Given the description of an element on the screen output the (x, y) to click on. 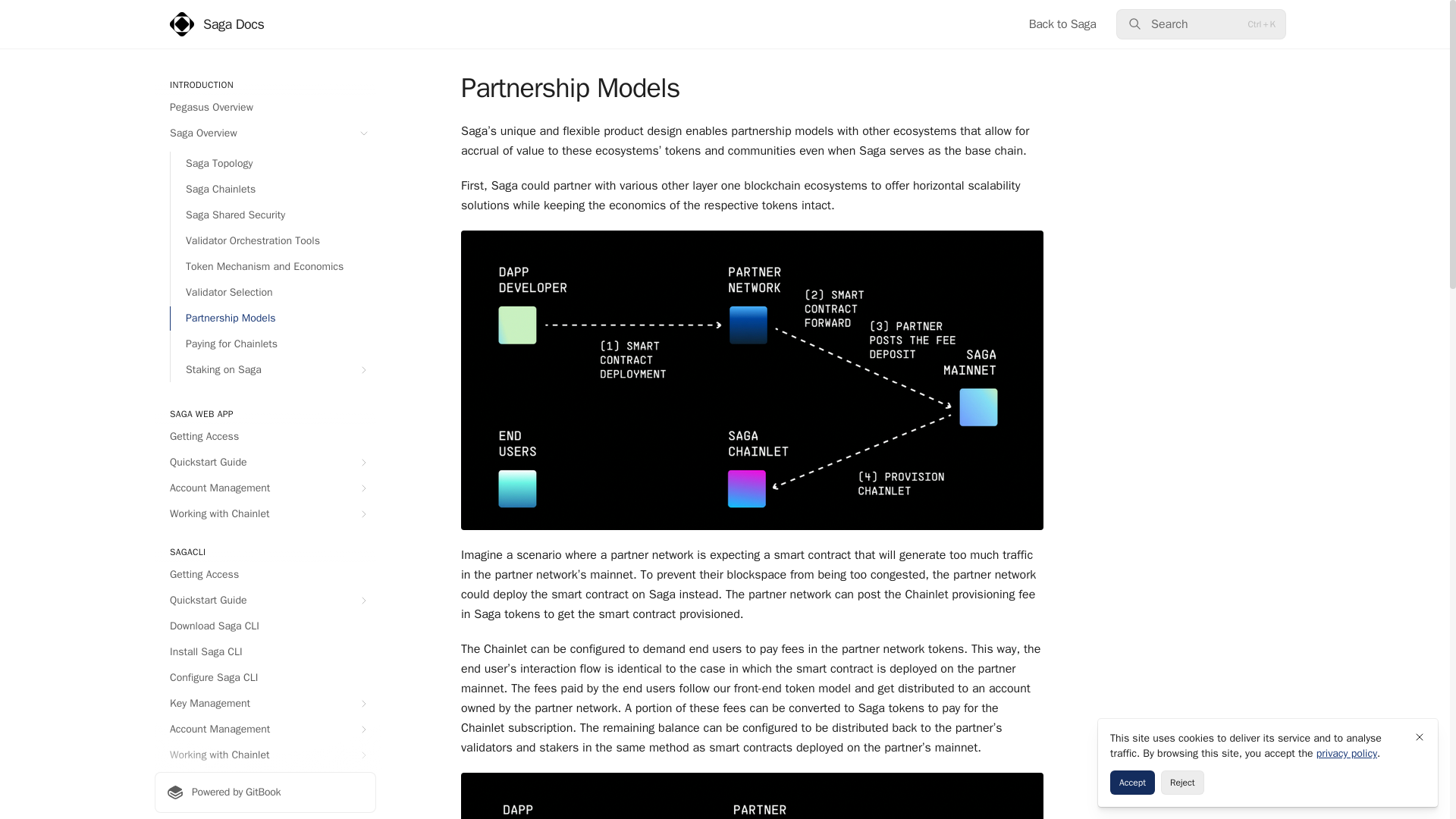
Validator Orchestration Tools (272, 241)
Saga Docs (216, 24)
Saga Topology (272, 163)
Pegasus Overview (264, 107)
Quickstart Guide (264, 600)
Saga Chainlets (272, 189)
Download Saga CLI (264, 626)
Saga Shared Security (272, 215)
Staking on Saga (272, 369)
Back to Saga (1062, 24)
Partnership Models (272, 318)
Paying for Chainlets (272, 344)
Close (1419, 737)
Account Management (264, 487)
Saga Overview (264, 133)
